Given the description of an element on the screen output the (x, y) to click on. 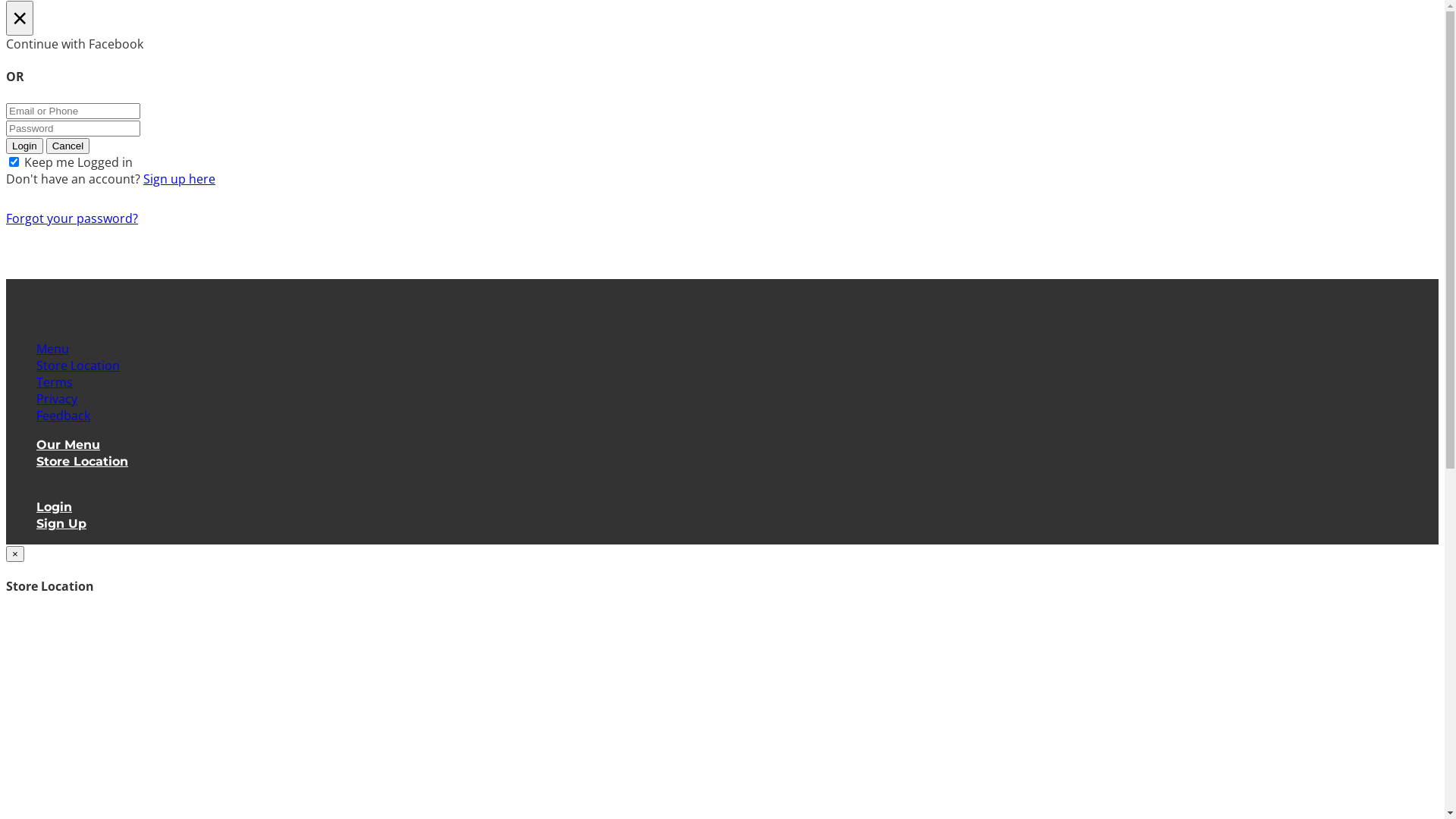
Cancel Element type: text (68, 145)
Menu Element type: text (52, 348)
Forgot your password? Element type: text (72, 218)
Sign up here Element type: text (179, 178)
Sign Up Element type: text (61, 523)
Store Location Element type: text (82, 461)
Our Menu Element type: text (68, 444)
Continue with Facebook Element type: text (722, 43)
Store Location Element type: text (77, 365)
Login Element type: text (54, 506)
Login Element type: text (24, 145)
Privacy Element type: text (56, 398)
Feedback Element type: text (63, 415)
Terms Element type: text (54, 381)
